Given the description of an element on the screen output the (x, y) to click on. 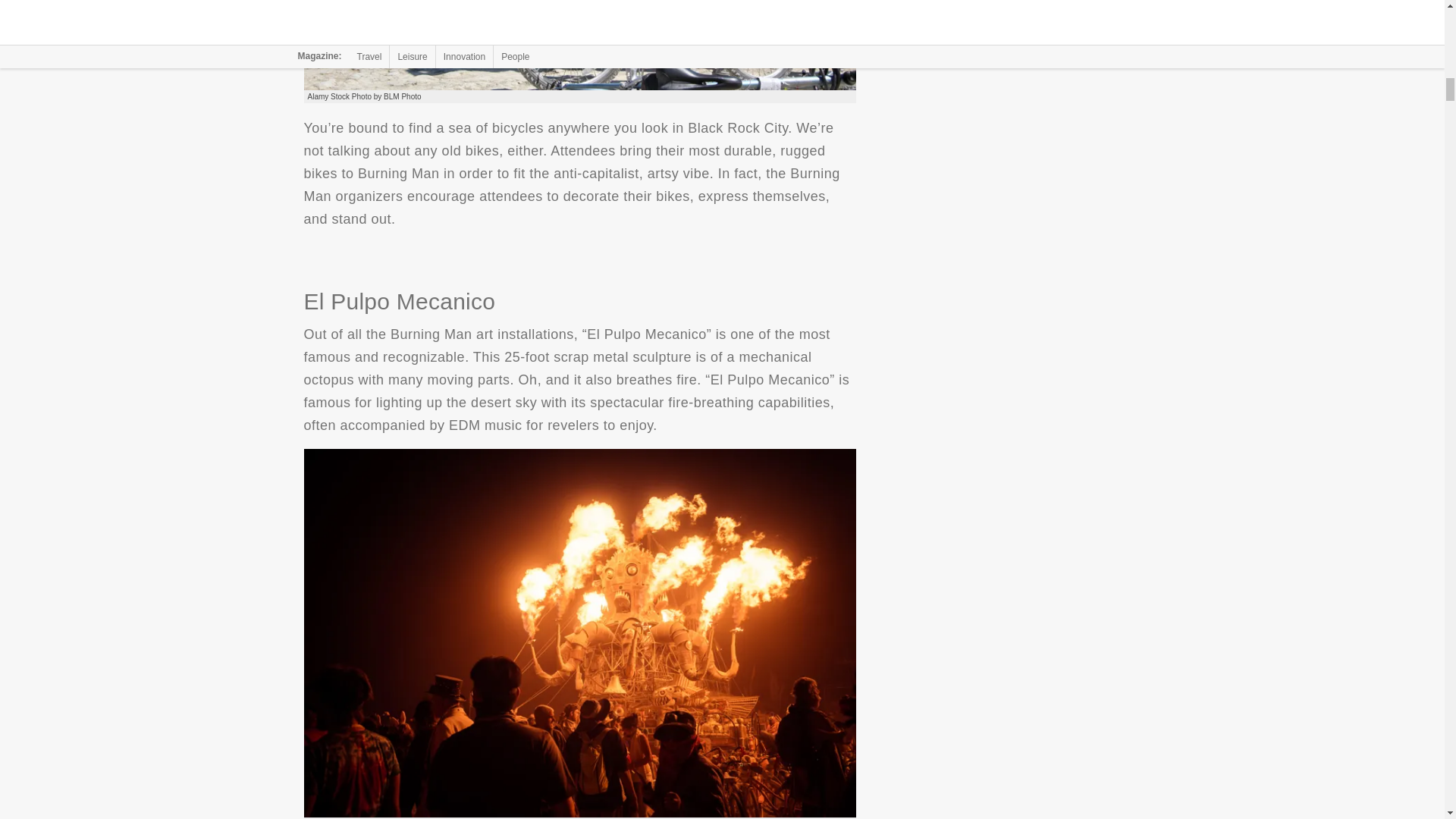
Getting Around Black Rock City (579, 45)
